Given the description of an element on the screen output the (x, y) to click on. 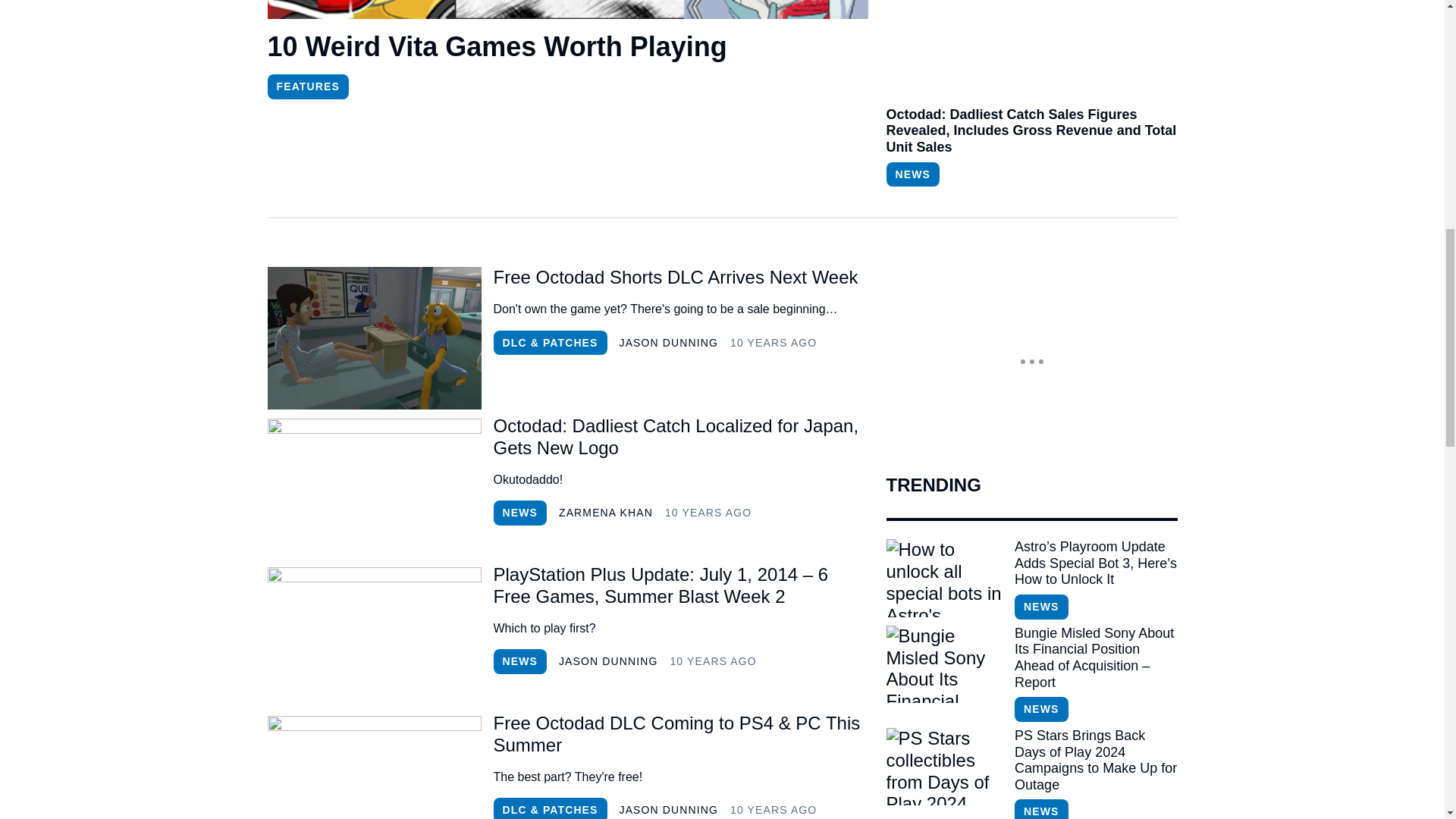
Free Octodad Shorts DLC Arrives Next Week (373, 337)
Octodad: Dadliest Catch Localized for Japan, Gets New Logo (373, 486)
Free Octodad Shorts DLC Arrives Next Week (680, 277)
10 Weird Vita Games Worth Playing (566, 49)
10 Weird Vita Games Worth Playing (566, 46)
JASON DUNNING (668, 342)
NEWS (519, 512)
